Given the description of an element on the screen output the (x, y) to click on. 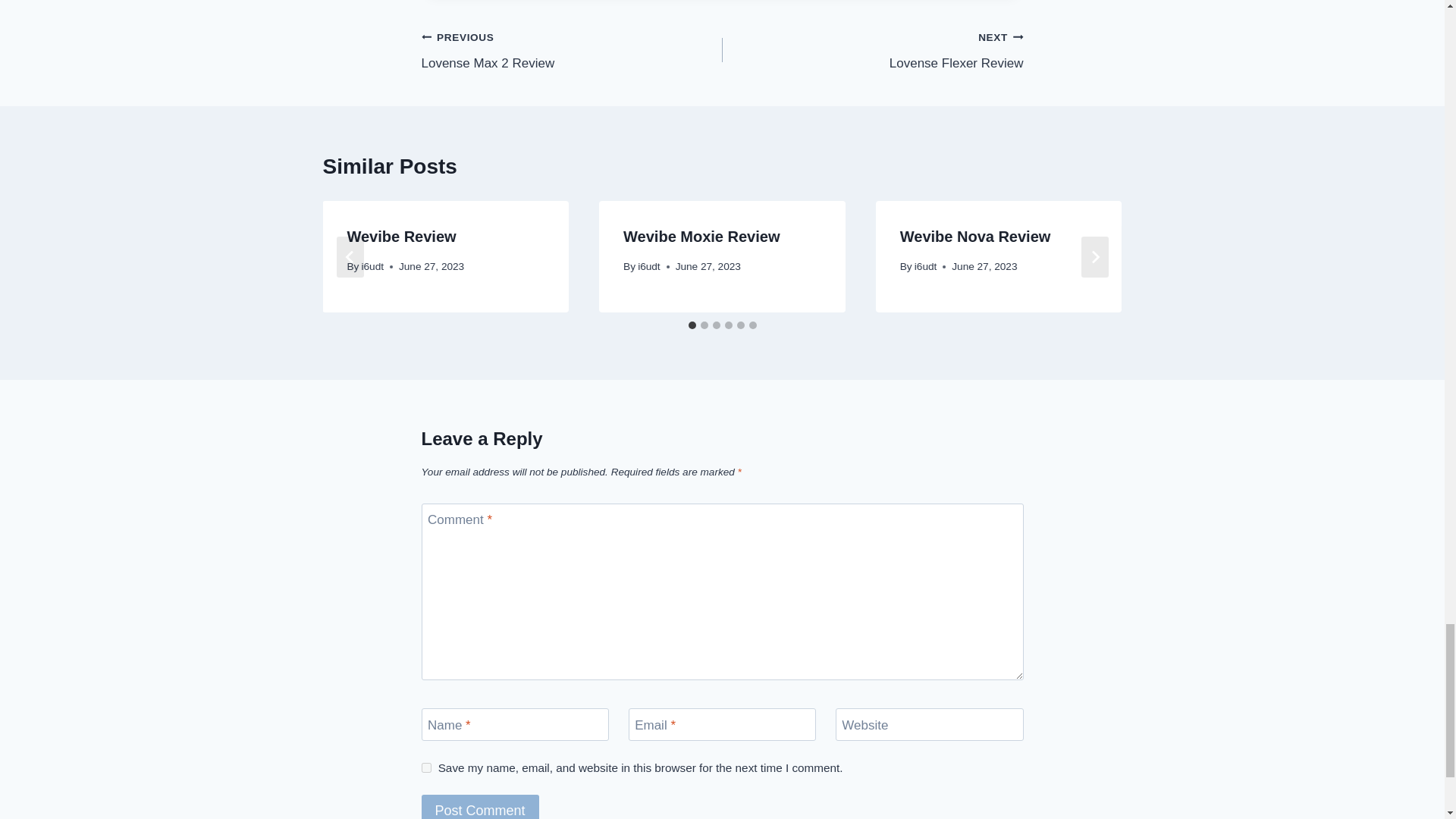
Post Comment (480, 806)
yes (572, 50)
